Given the description of an element on the screen output the (x, y) to click on. 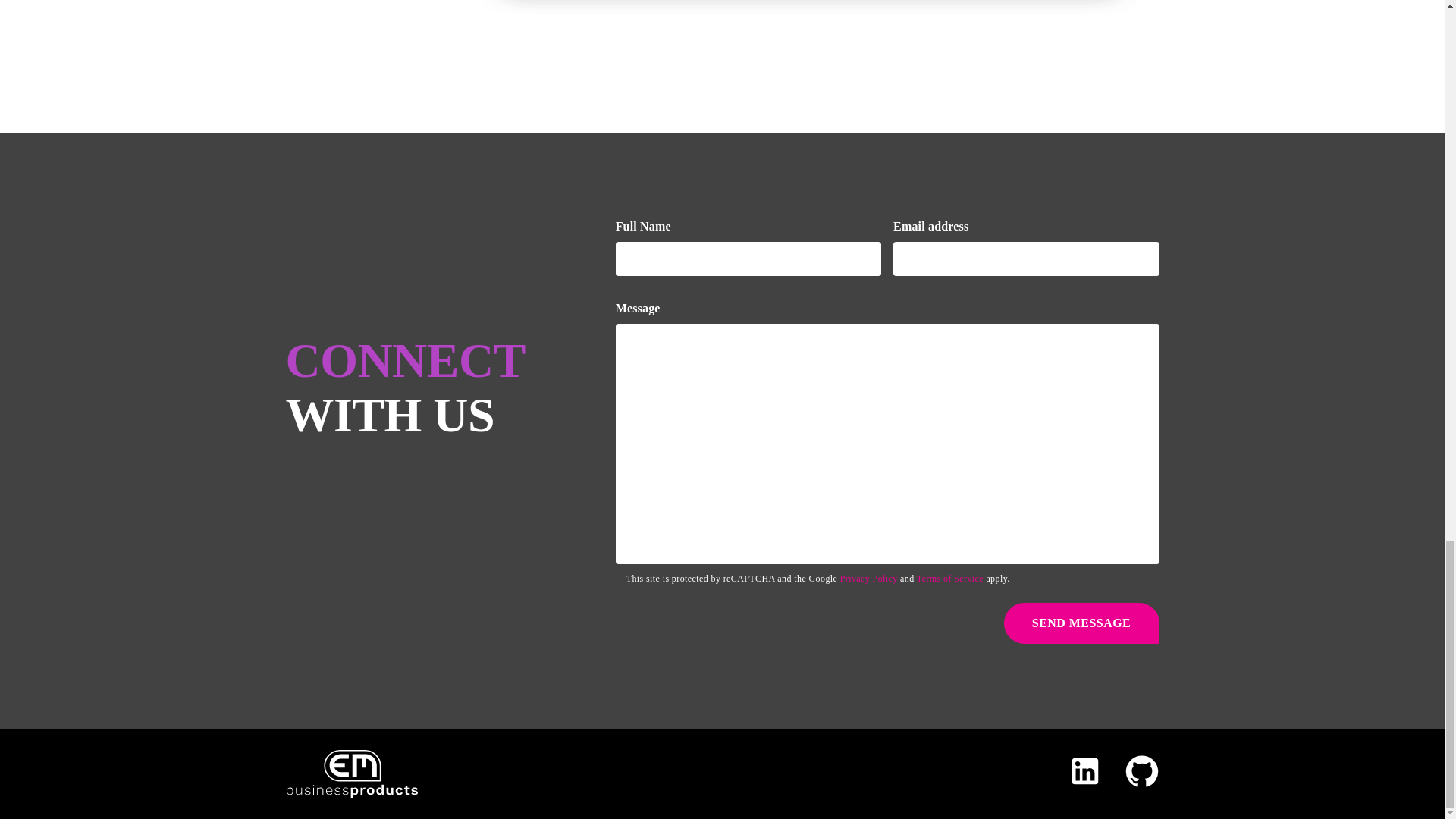
SEND MESSAGE (1081, 622)
Privacy Policy (869, 578)
Terms of Service (949, 578)
DHO Studios (721, 12)
